Given the description of an element on the screen output the (x, y) to click on. 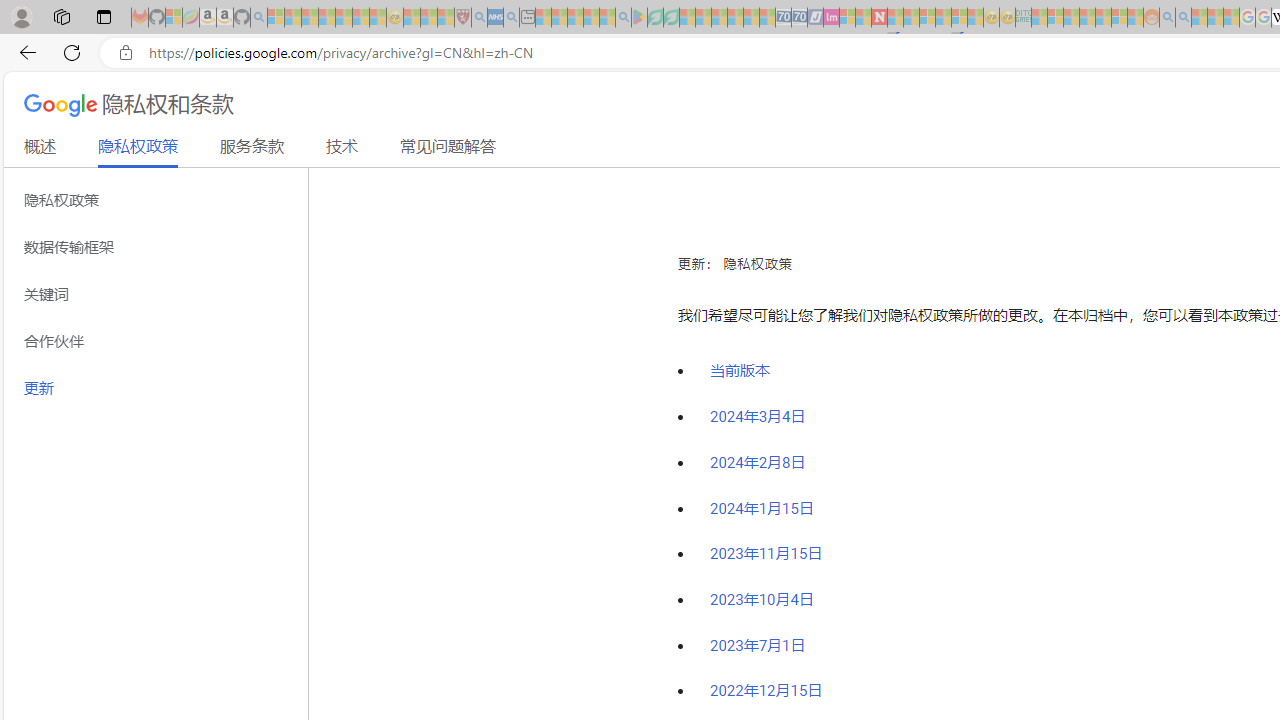
Expert Portfolios - Sleeping (1087, 17)
google - Search - Sleeping (623, 17)
DITOGAMES AG Imprint - Sleeping (1023, 17)
Terms of Use Agreement - Sleeping (655, 17)
NCL Adult Asthma Inhaler Choice Guideline - Sleeping (495, 17)
MSNBC - MSN - Sleeping (1039, 17)
